Given the description of an element on the screen output the (x, y) to click on. 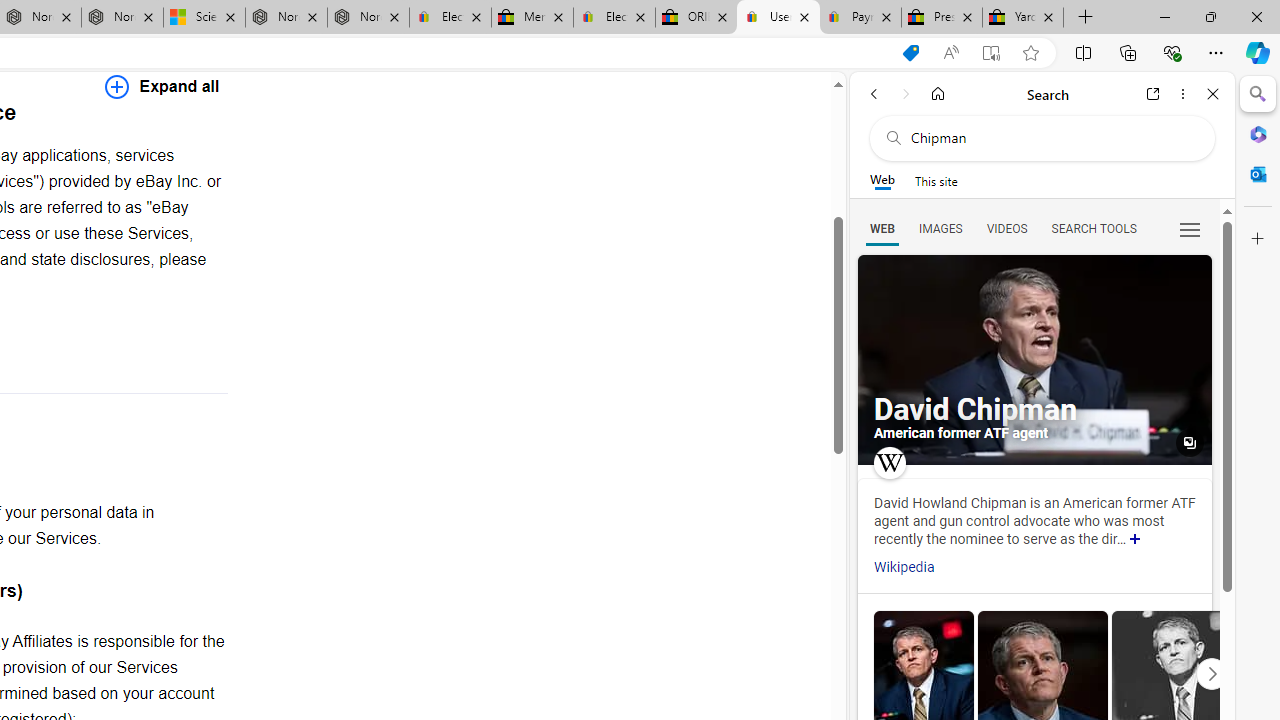
Search Filter, Search Tools (1093, 228)
This site scope (936, 180)
Web scope (882, 180)
Search Filter, IMAGES (939, 228)
